Given the description of an element on the screen output the (x, y) to click on. 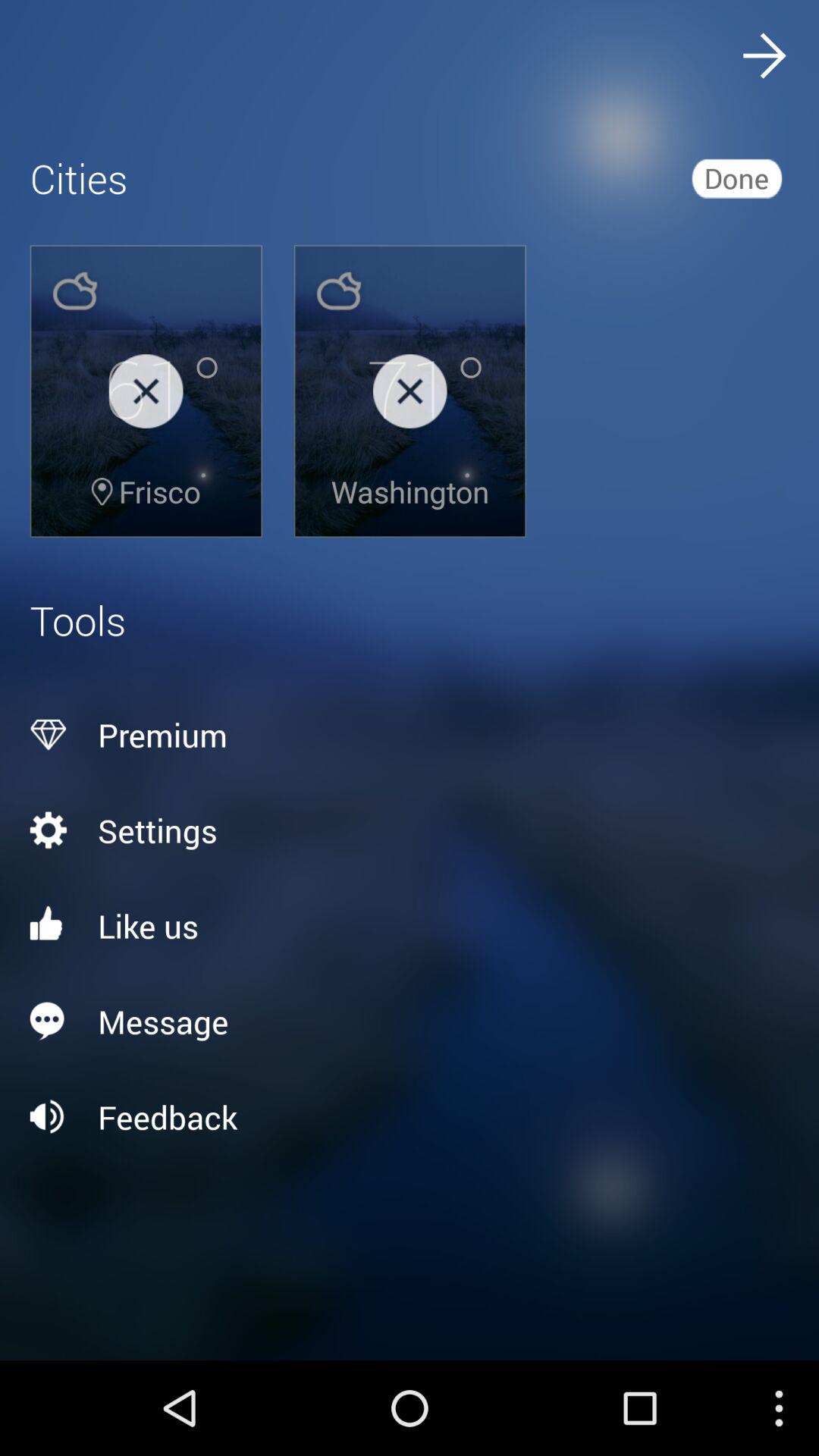
click the app below message icon (409, 1116)
